Given the description of an element on the screen output the (x, y) to click on. 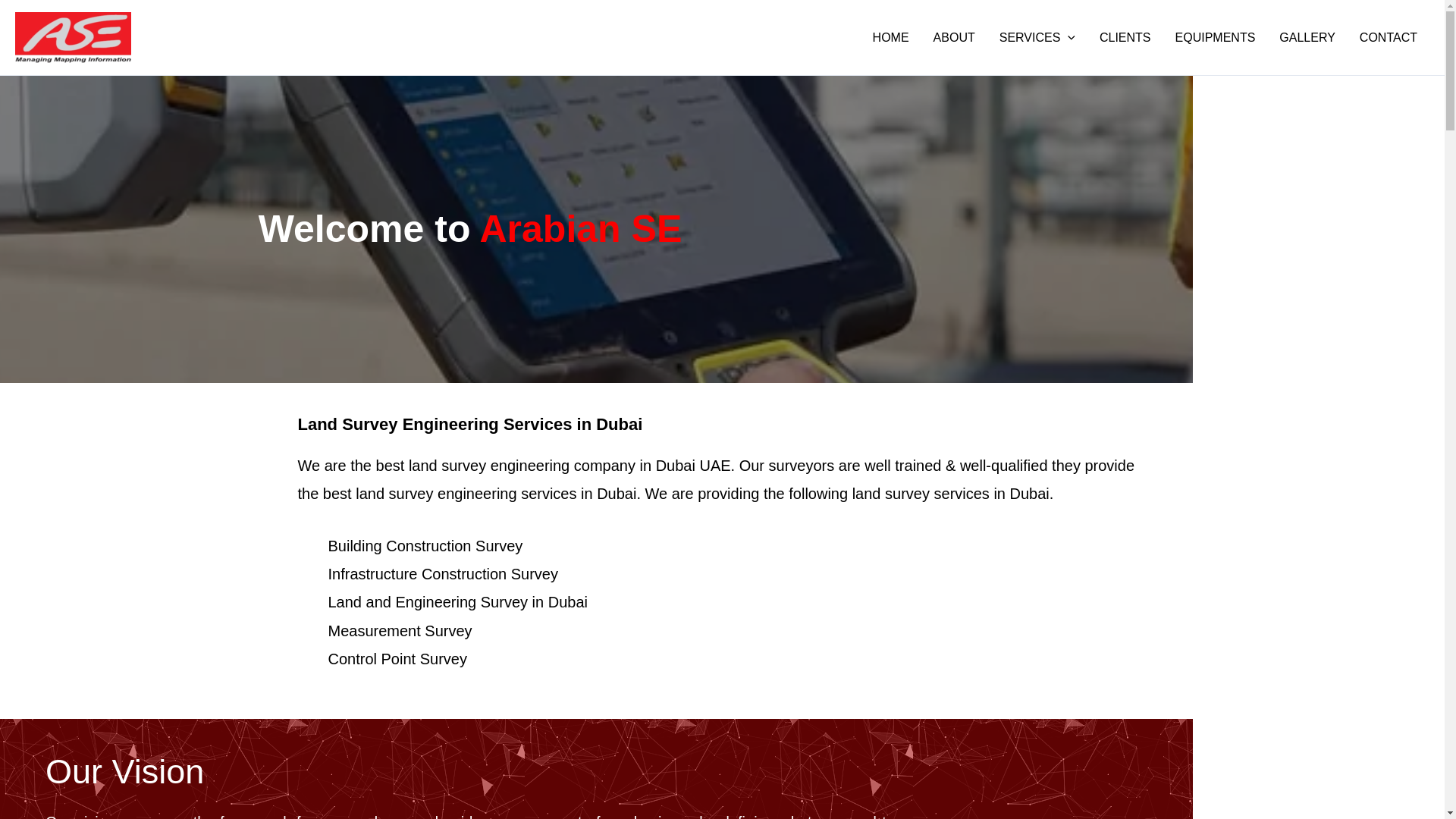
EQUIPMENTS (1215, 37)
survey engineering company in Dubai (568, 465)
survey engineering services in Dubai (510, 493)
HOME (890, 37)
ABOUT (954, 37)
land survey services in Dubai (950, 493)
GALLERY (1307, 37)
Land and Engineering Survey in Dubai (456, 601)
CLIENTS (1125, 37)
CONTACT (1388, 37)
SERVICES (1037, 37)
